Given the description of an element on the screen output the (x, y) to click on. 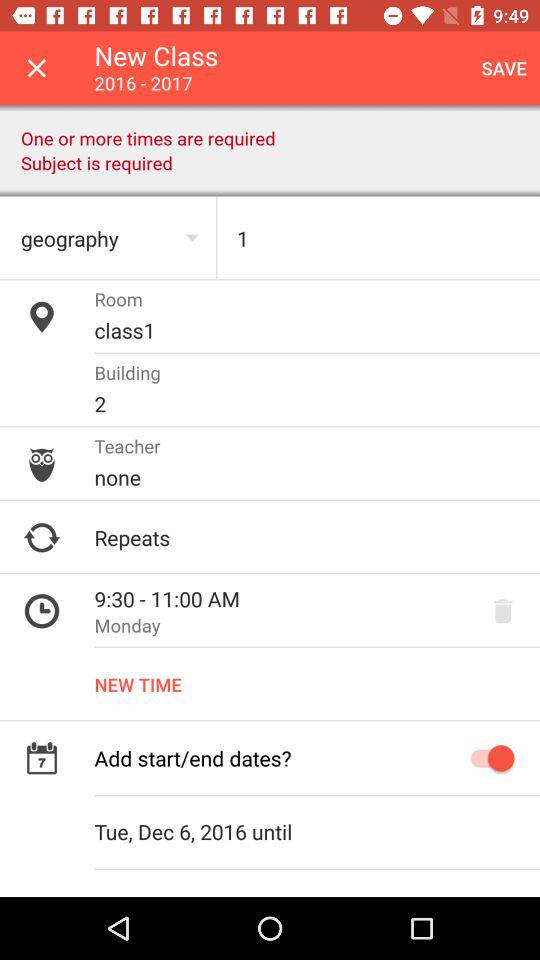
go do deled (503, 611)
